Given the description of an element on the screen output the (x, y) to click on. 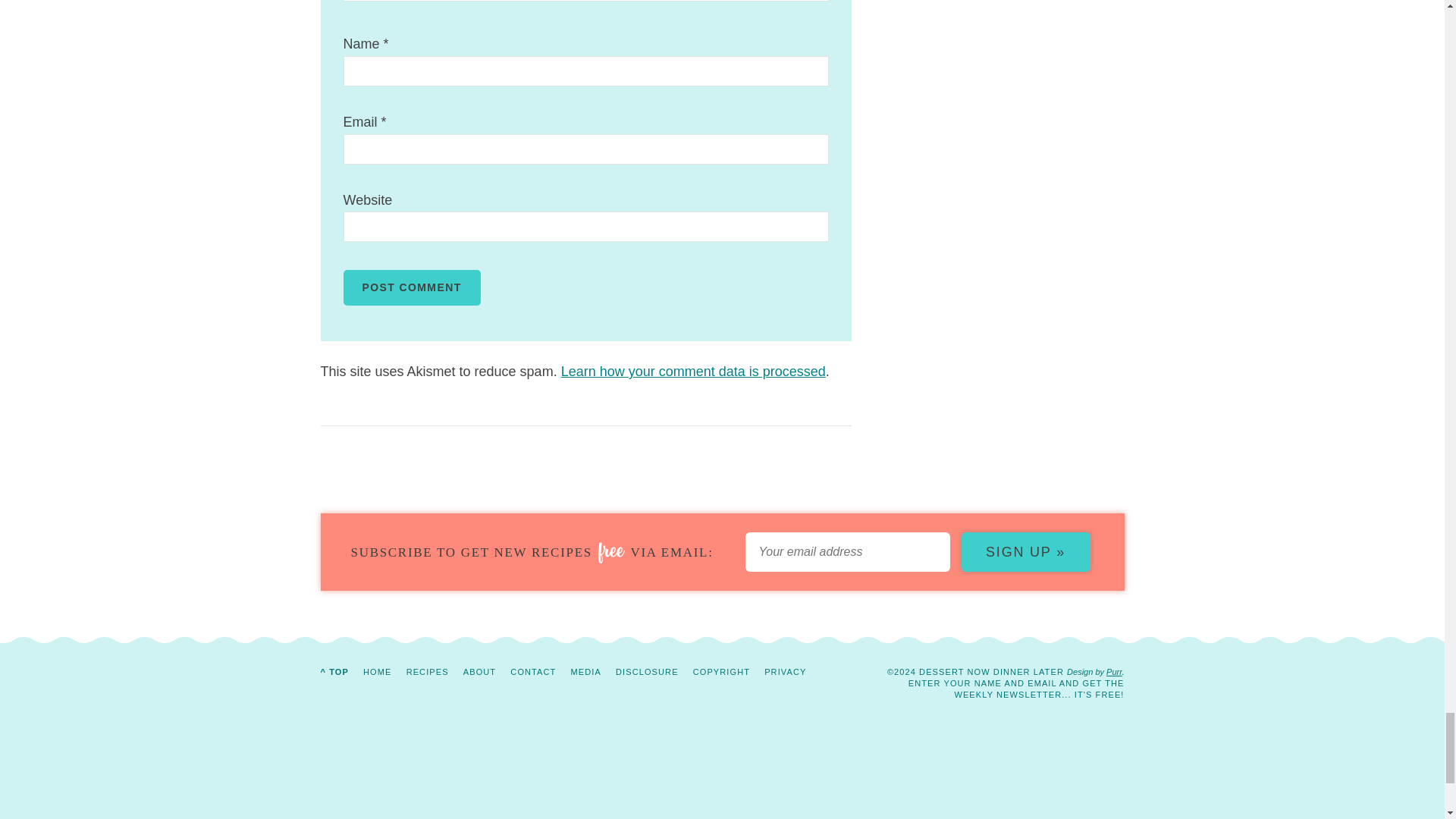
Post Comment (411, 287)
